Given the description of an element on the screen output the (x, y) to click on. 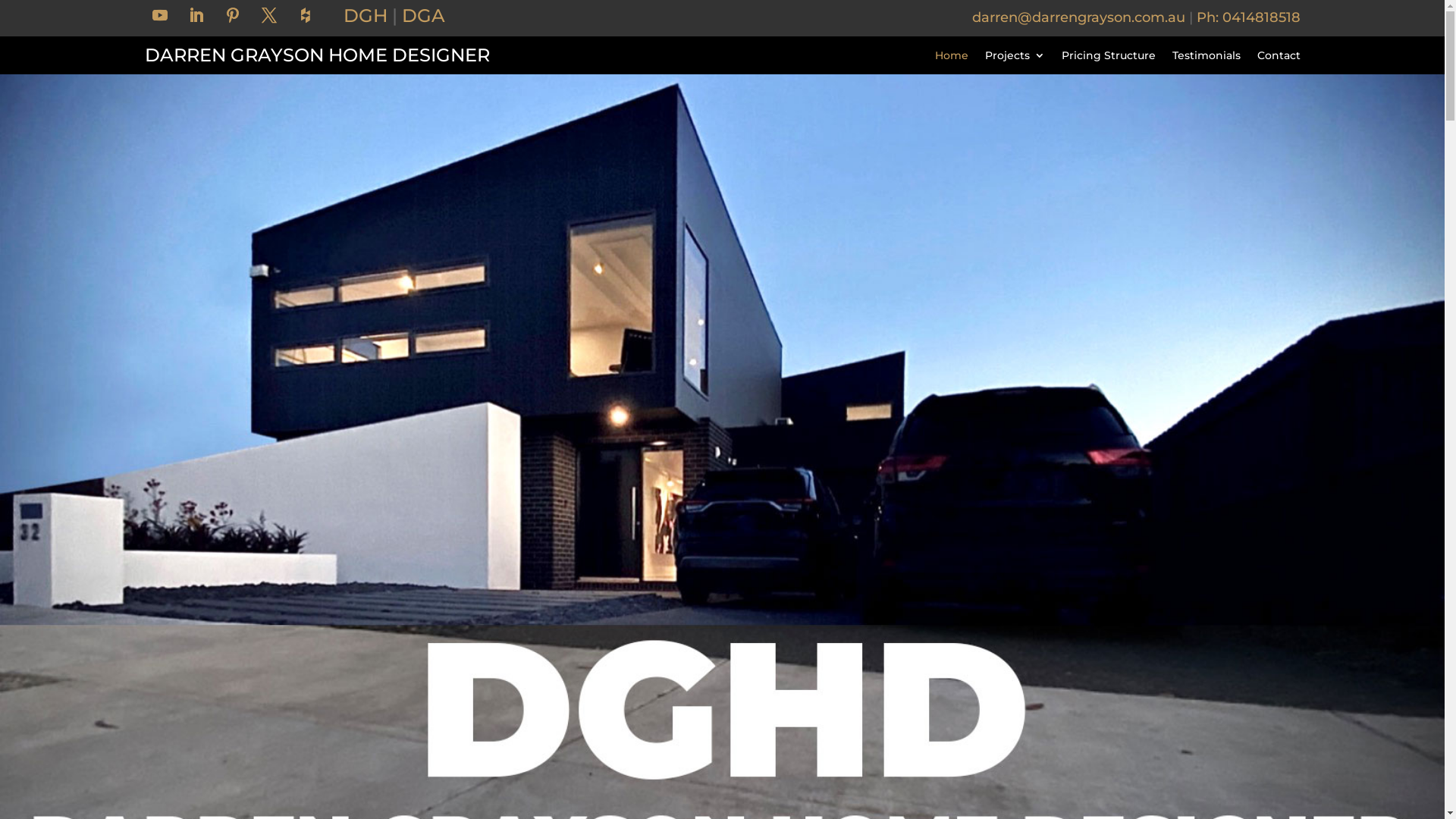
Projects Element type: text (1014, 58)
Ph: 0414818518 Element type: text (1248, 17)
Follow on Youtube Element type: hover (159, 15)
DGA Element type: text (423, 15)
Contact Element type: text (1278, 58)
Follow on LinkedIn Element type: hover (196, 15)
Testimonials Element type: text (1206, 58)
DGH Element type: text (365, 15)
Follow on X Element type: hover (269, 15)
darren@darrengrayson.com.au Element type: text (1078, 17)
Home Element type: text (950, 58)
Follow on houzz Element type: hover (305, 15)
Follow on Pinterest Element type: hover (232, 15)
Pricing Structure Element type: text (1108, 58)
